Given the description of an element on the screen output the (x, y) to click on. 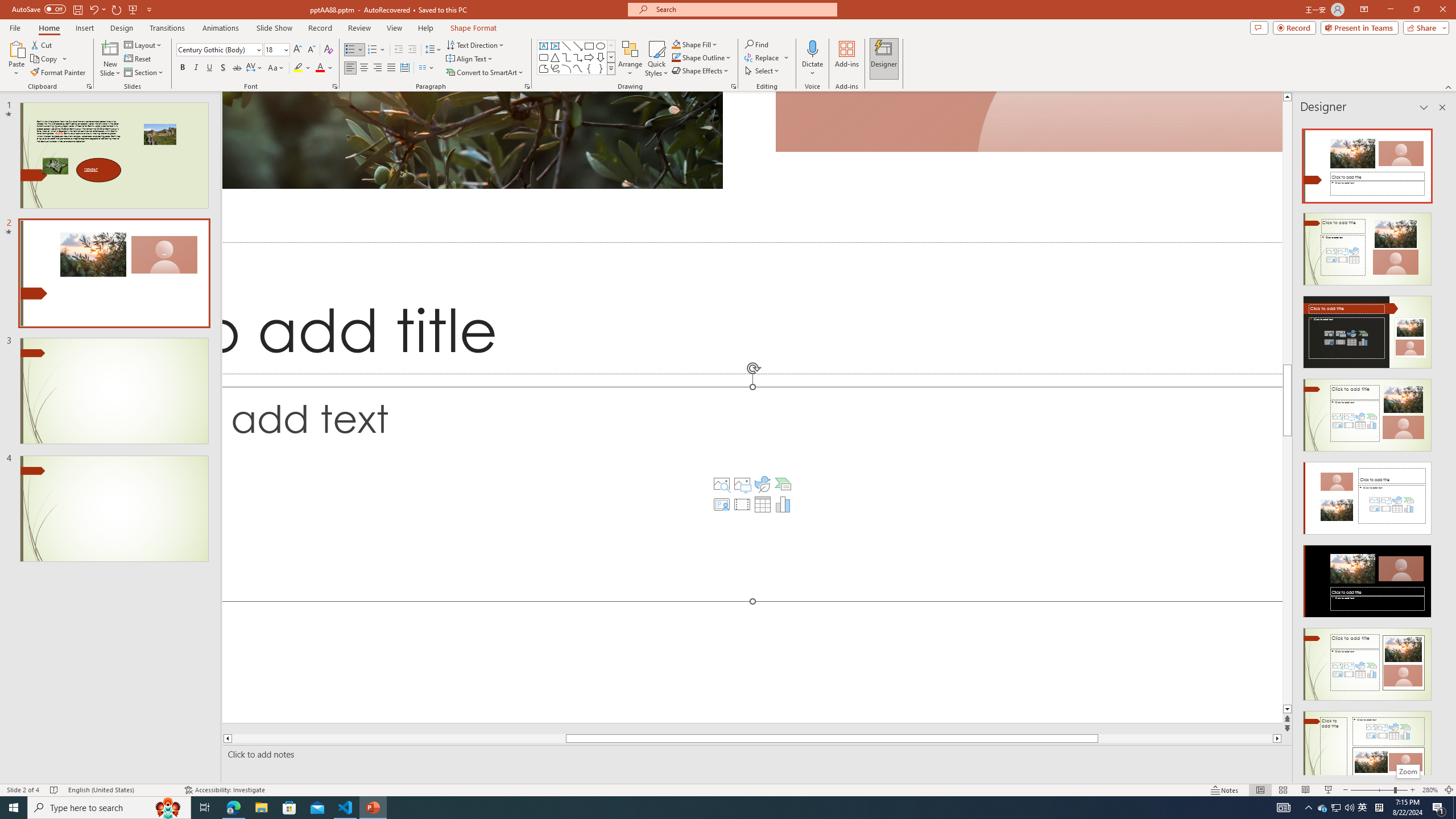
Pictures (742, 484)
Layout (143, 44)
Shape Fill (694, 44)
Customize Quick Access Toolbar (149, 9)
Vertical Text Box (554, 45)
Columns (426, 67)
Office Clipboard... (88, 85)
Clear Formatting (327, 49)
Shapes (611, 68)
Line down (1287, 709)
Format Object... (733, 85)
Insert Video (742, 504)
View (395, 28)
Slide Notes (754, 754)
Arrange (630, 58)
